Given the description of an element on the screen output the (x, y) to click on. 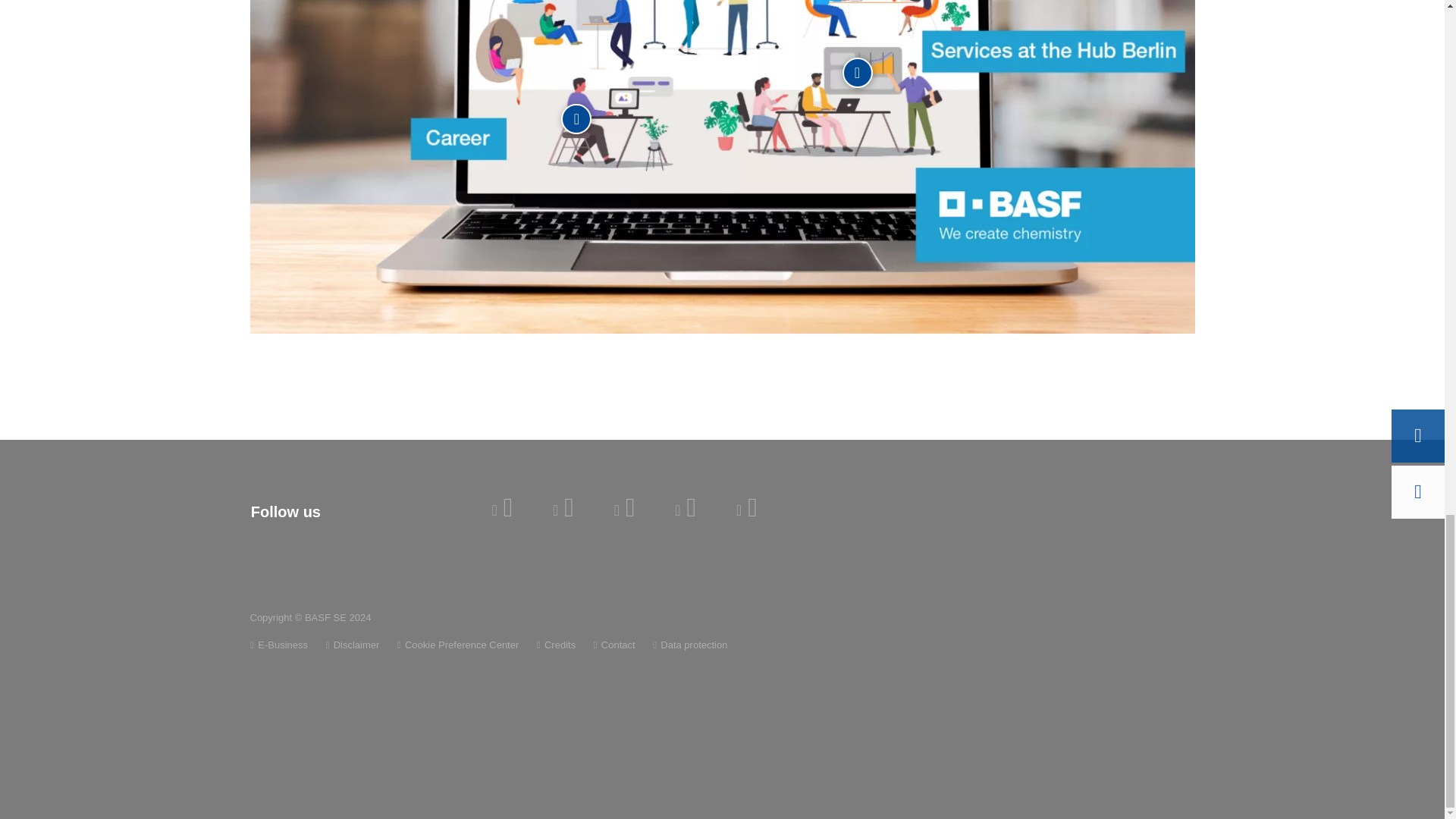
Join us in LinkedIn (501, 507)
